Given the description of an element on the screen output the (x, y) to click on. 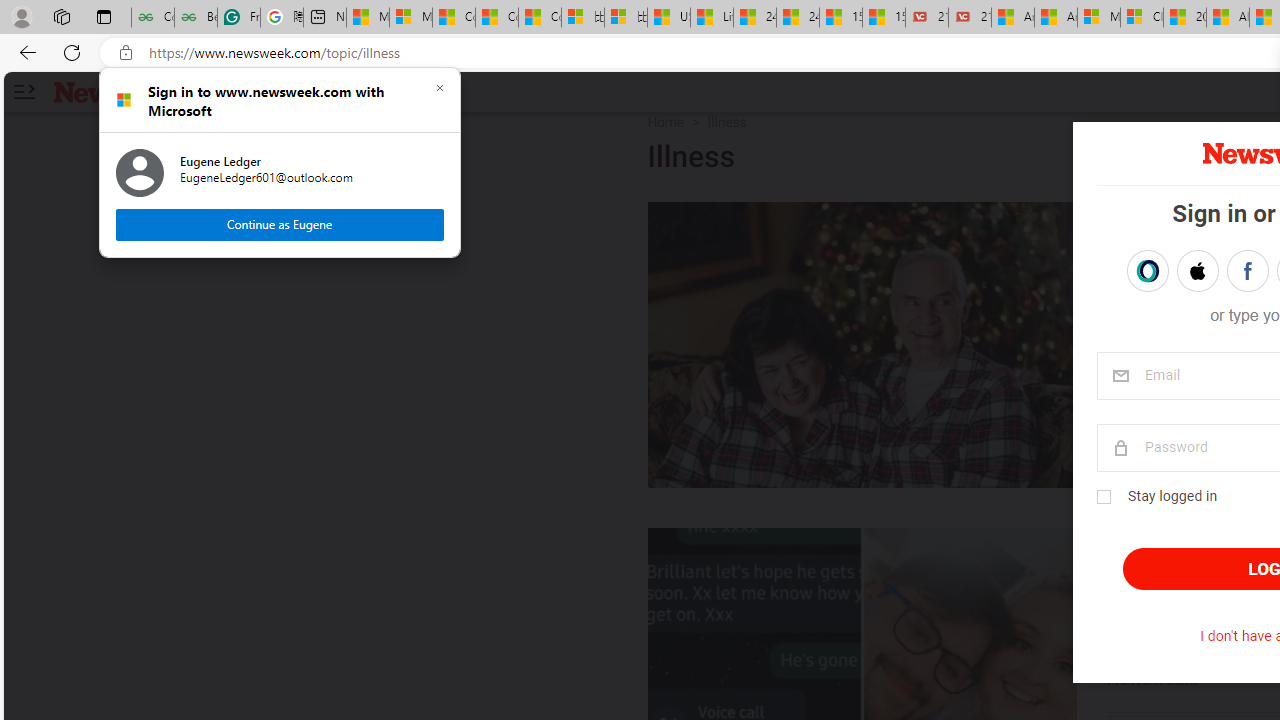
AutomationID: side-arrow (23, 92)
Sign in with OPENPASS (1147, 270)
